Given the description of an element on the screen output the (x, y) to click on. 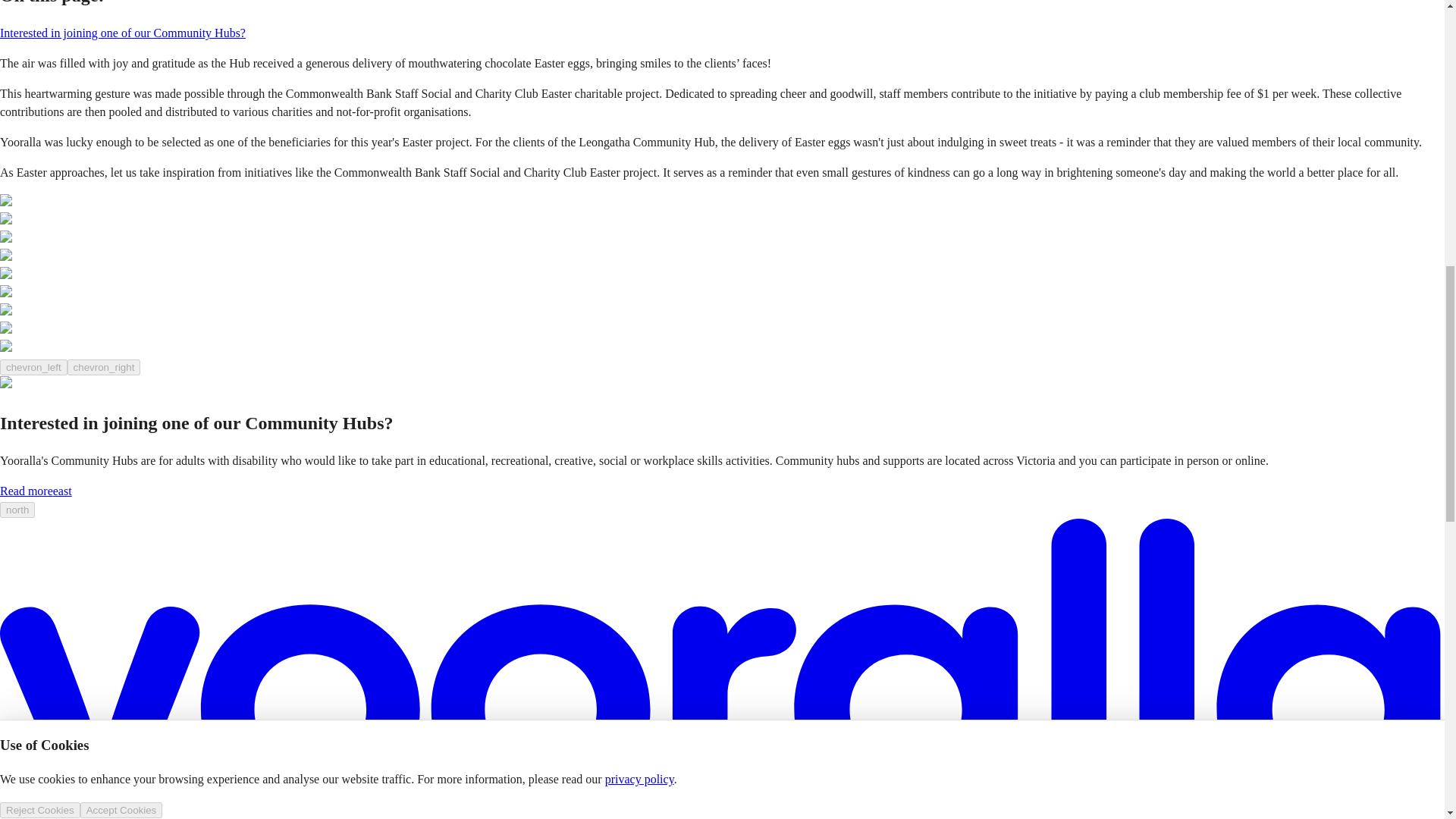
Interested in joining one of our Community Hubs? (123, 32)
Read moreeast (35, 490)
north (17, 509)
